Given the description of an element on the screen output the (x, y) to click on. 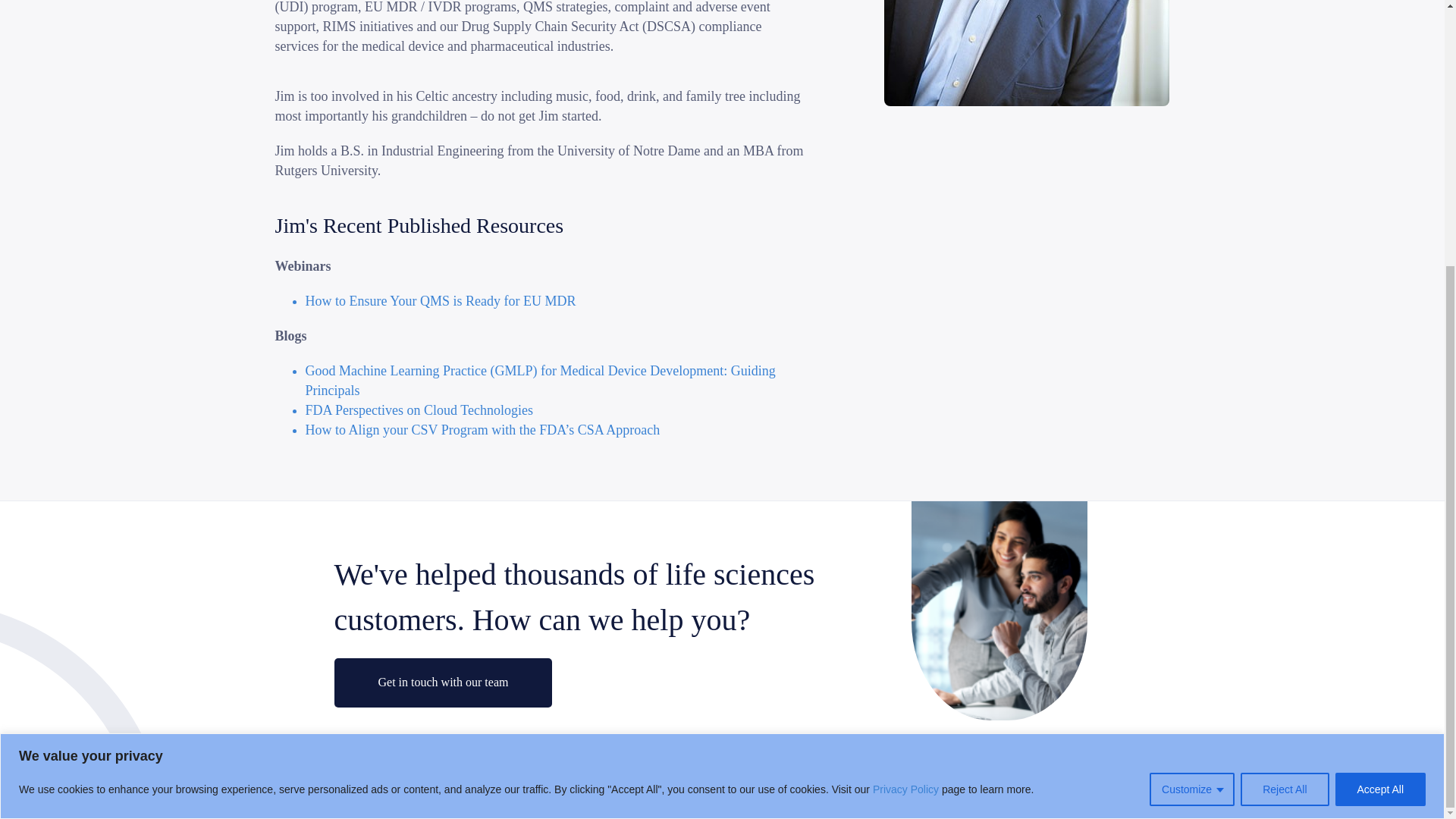
Customize (1192, 403)
Reject All (1283, 403)
Accept All (1380, 403)
Privacy Policy (905, 403)
